Given the description of an element on the screen output the (x, y) to click on. 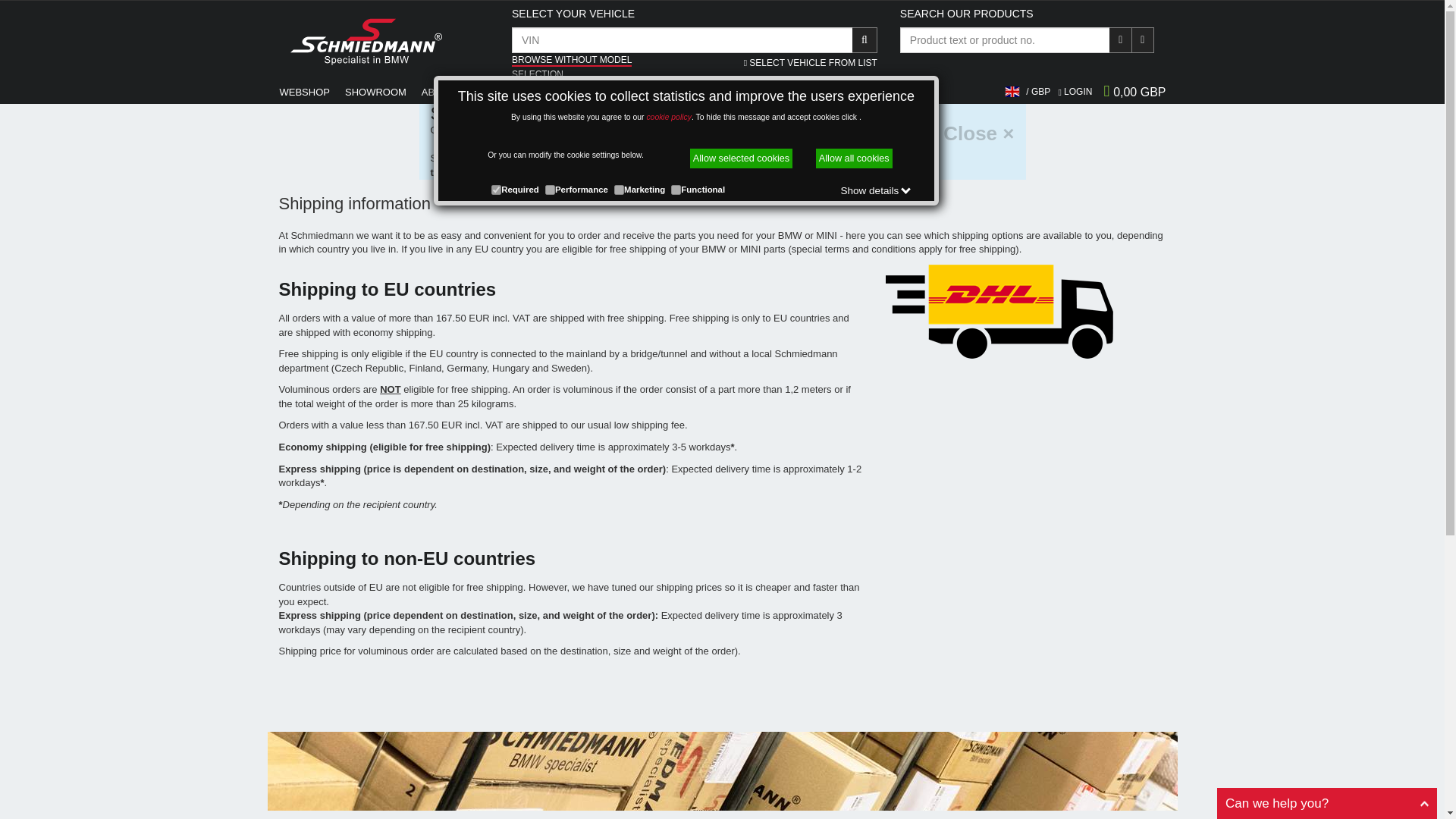
400 (496, 189)
300 (676, 189)
100 (549, 189)
200 (619, 189)
